Given the description of an element on the screen output the (x, y) to click on. 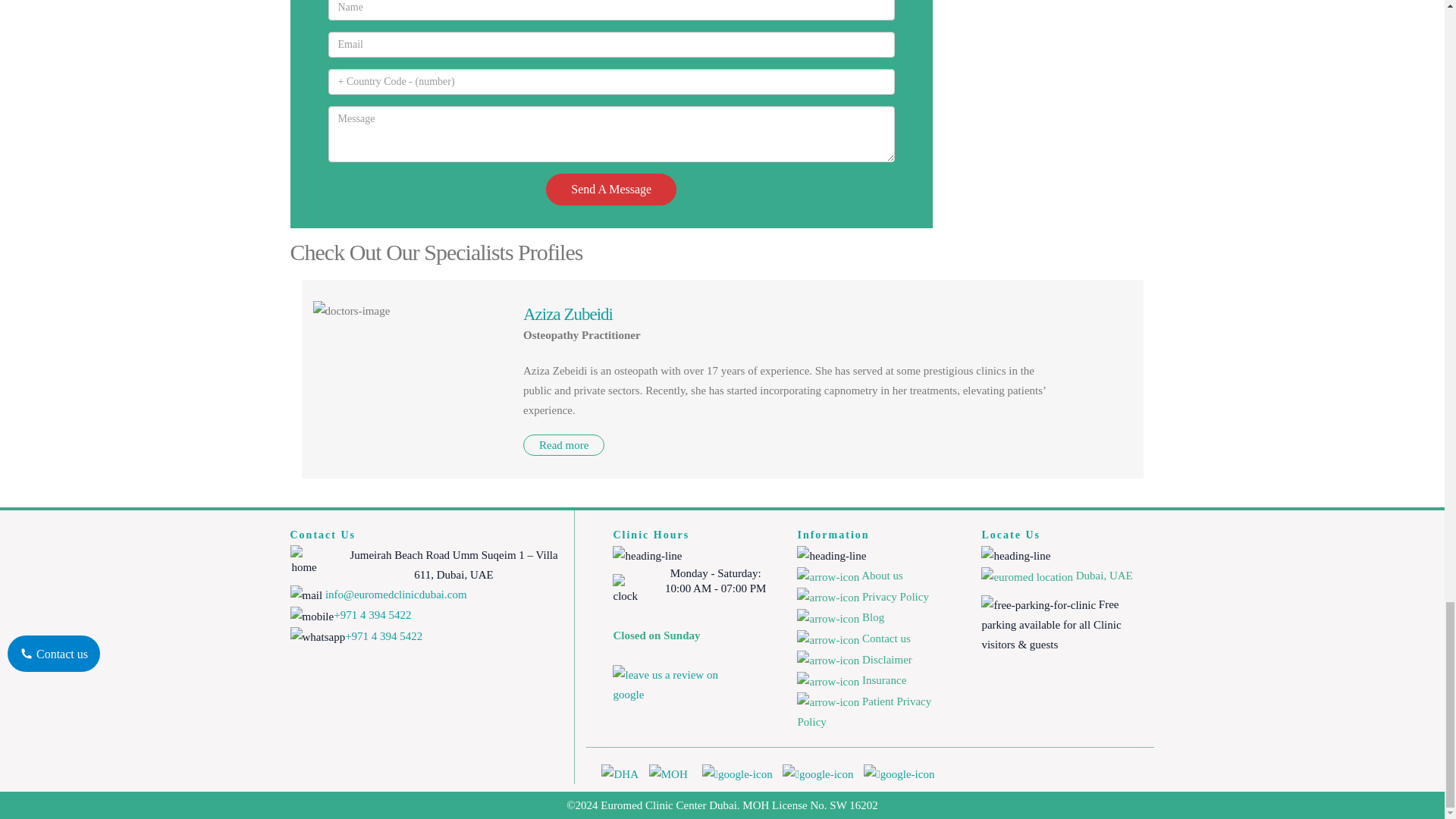
Send A Message (611, 189)
